Given the description of an element on the screen output the (x, y) to click on. 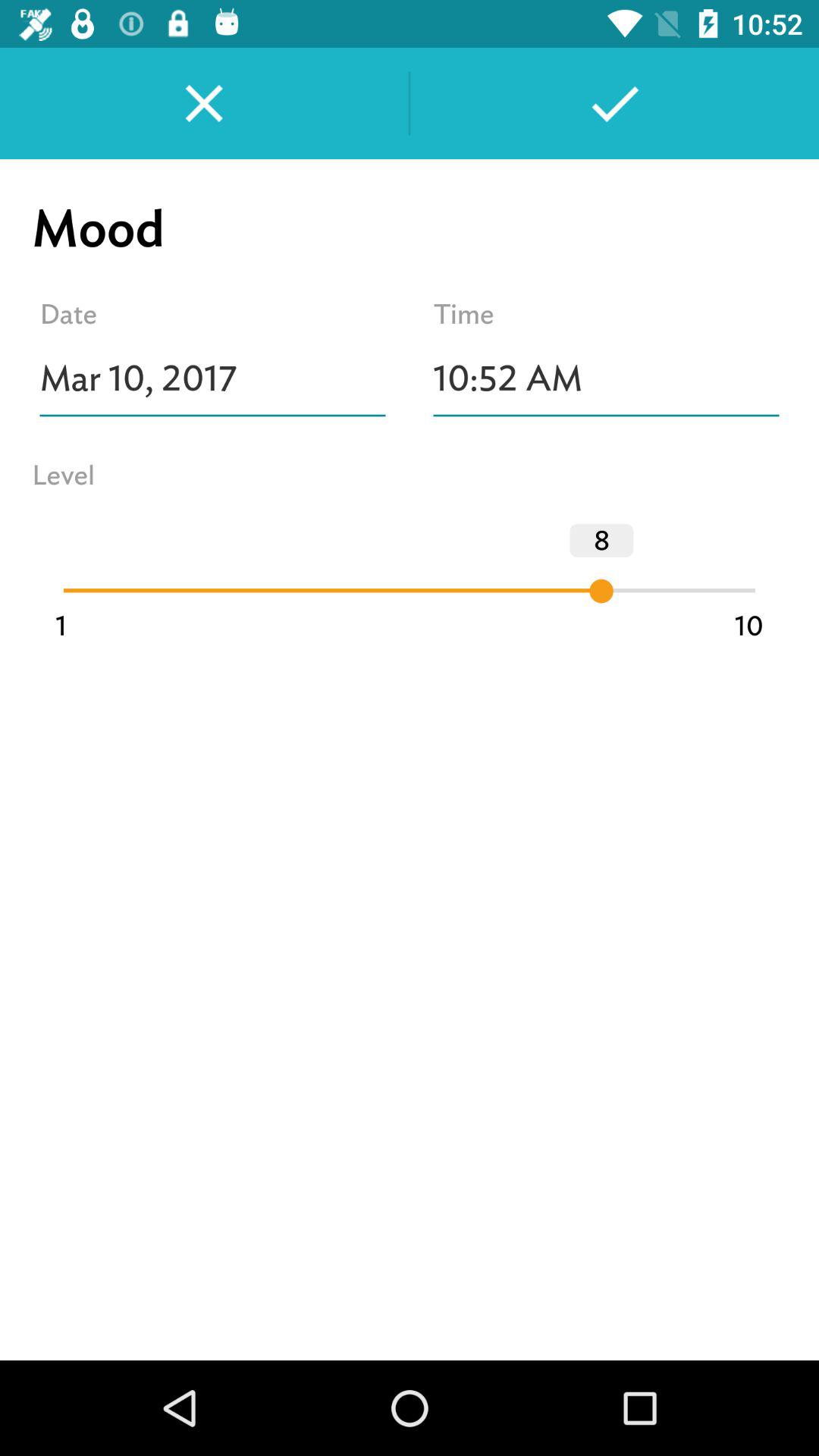
click item next to the mar 10, 2017 item (606, 378)
